Given the description of an element on the screen output the (x, y) to click on. 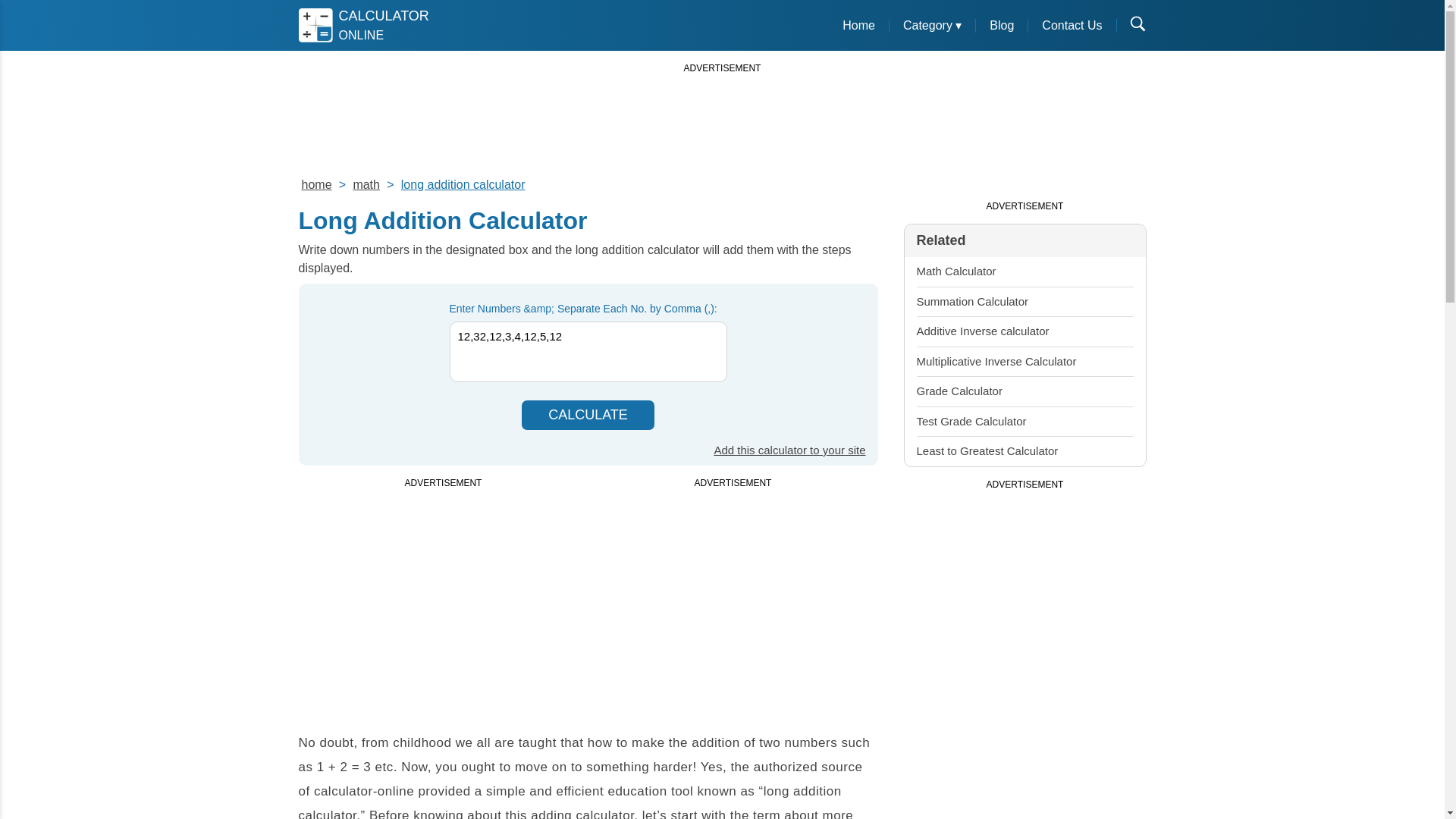
Home (858, 25)
Advertisement (442, 594)
Least to Greatest Calculator (986, 450)
home (316, 184)
Multiplicative Inverse Calculator (995, 360)
Summation Calculator (971, 300)
long addition calculator (363, 25)
CALCULATE (463, 184)
math (587, 414)
